Given the description of an element on the screen output the (x, y) to click on. 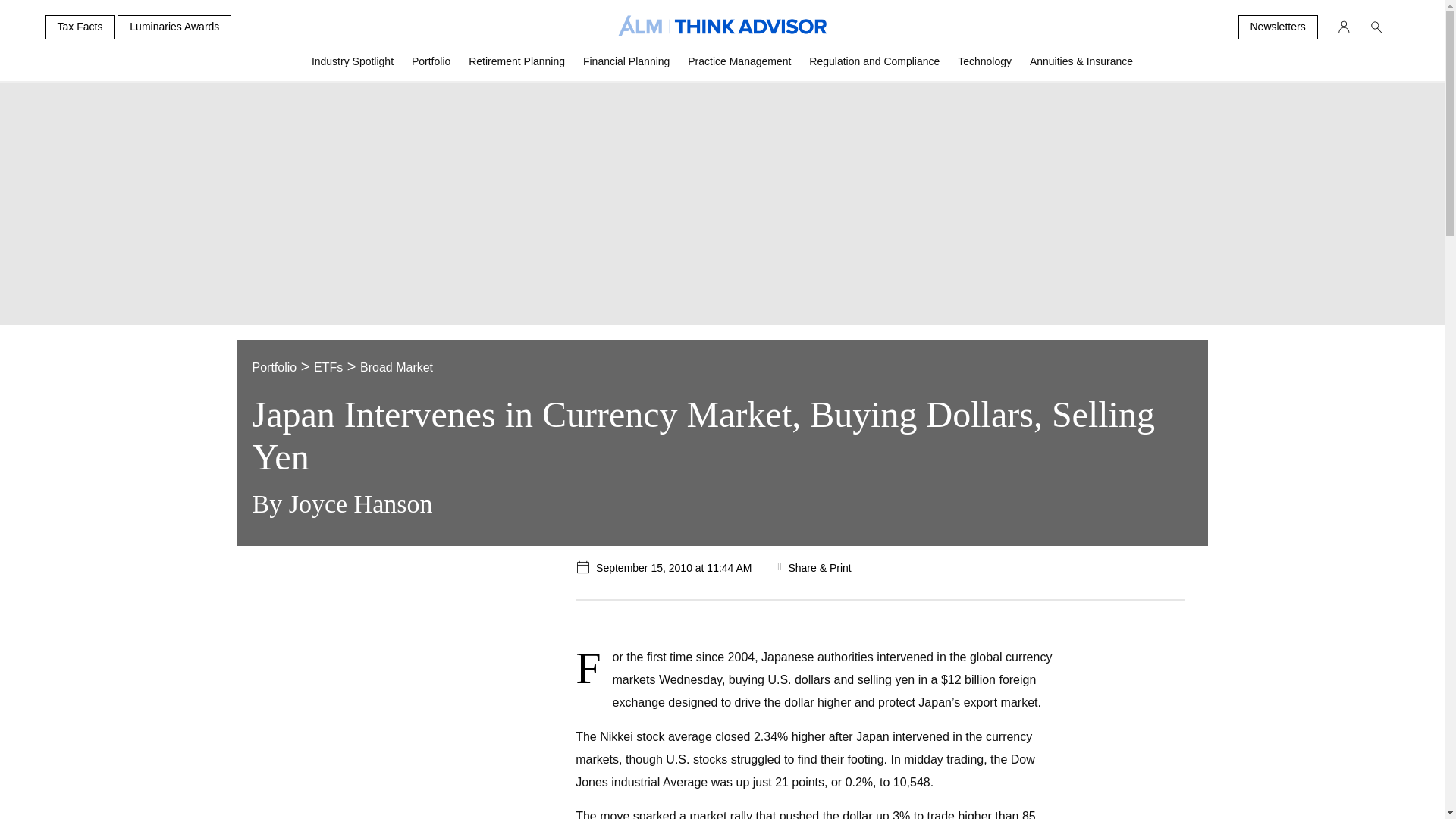
Industry Spotlight (352, 67)
Luminaries Awards (174, 27)
Newsletters (1277, 27)
Tax Facts (80, 27)
